Given the description of an element on the screen output the (x, y) to click on. 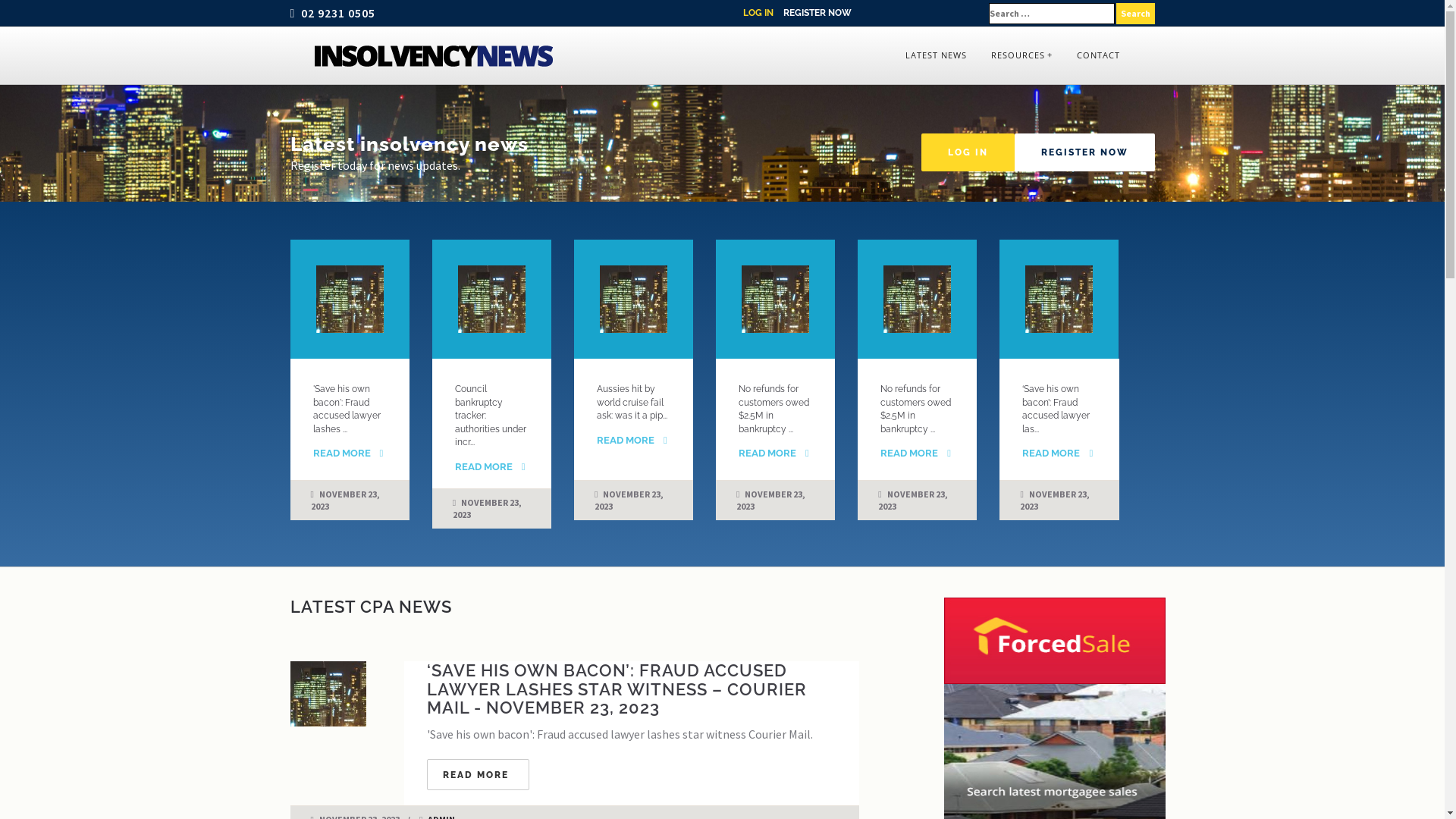
READ MORE Element type: text (483, 466)
Council bankruptcy tracker: authorities under incr... Element type: text (490, 415)
READ MORE Element type: text (767, 452)
READ MORE Element type: text (909, 452)
REGISTER NOW Element type: text (1084, 152)
RESOURCES+ Element type: text (1020, 55)
READ MORE Element type: text (1050, 452)
READ MORE Element type: text (625, 439)
No refunds for customers owed $2.5M in bankruptcy ... Element type: text (915, 408)
Aussies hit by world cruise fail ask: was it a pip... Element type: text (631, 401)
READ MORE Element type: text (477, 774)
No refunds for customers owed $2.5M in bankruptcy ... Element type: text (773, 408)
CONTACT Element type: text (1098, 55)
READ MORE Element type: text (341, 452)
REGISTER NOW Element type: text (816, 12)
LOG IN Element type: text (966, 152)
'Save his own bacon': Fraud accused lawyer lashes ... Element type: text (345, 408)
LATEST NEWS Element type: text (936, 55)
LOG IN Element type: text (758, 12)
Search Element type: text (1135, 13)
